Given the description of an element on the screen output the (x, y) to click on. 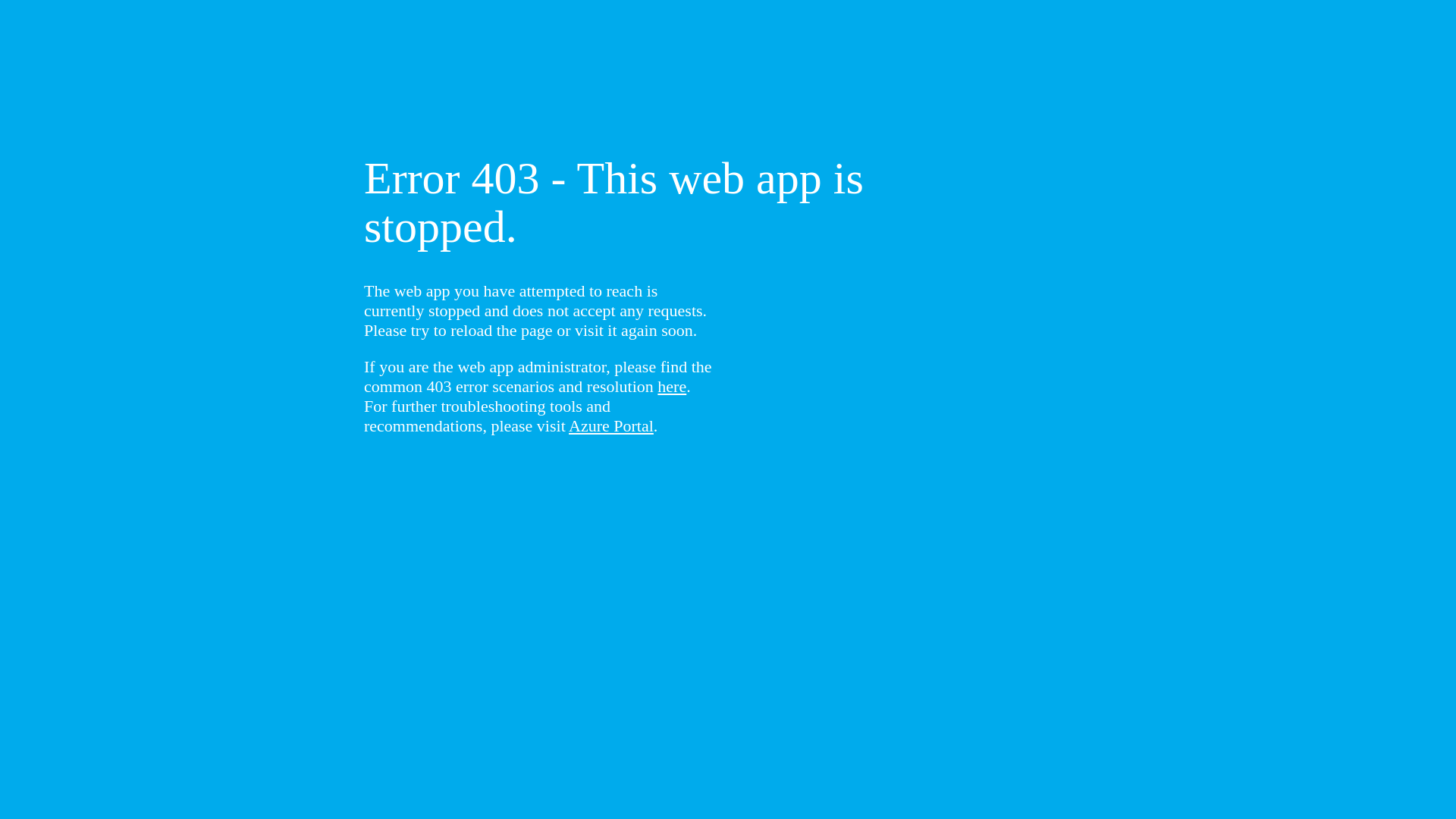
Azure Portal Element type: text (610, 425)
here Element type: text (671, 385)
